Given the description of an element on the screen output the (x, y) to click on. 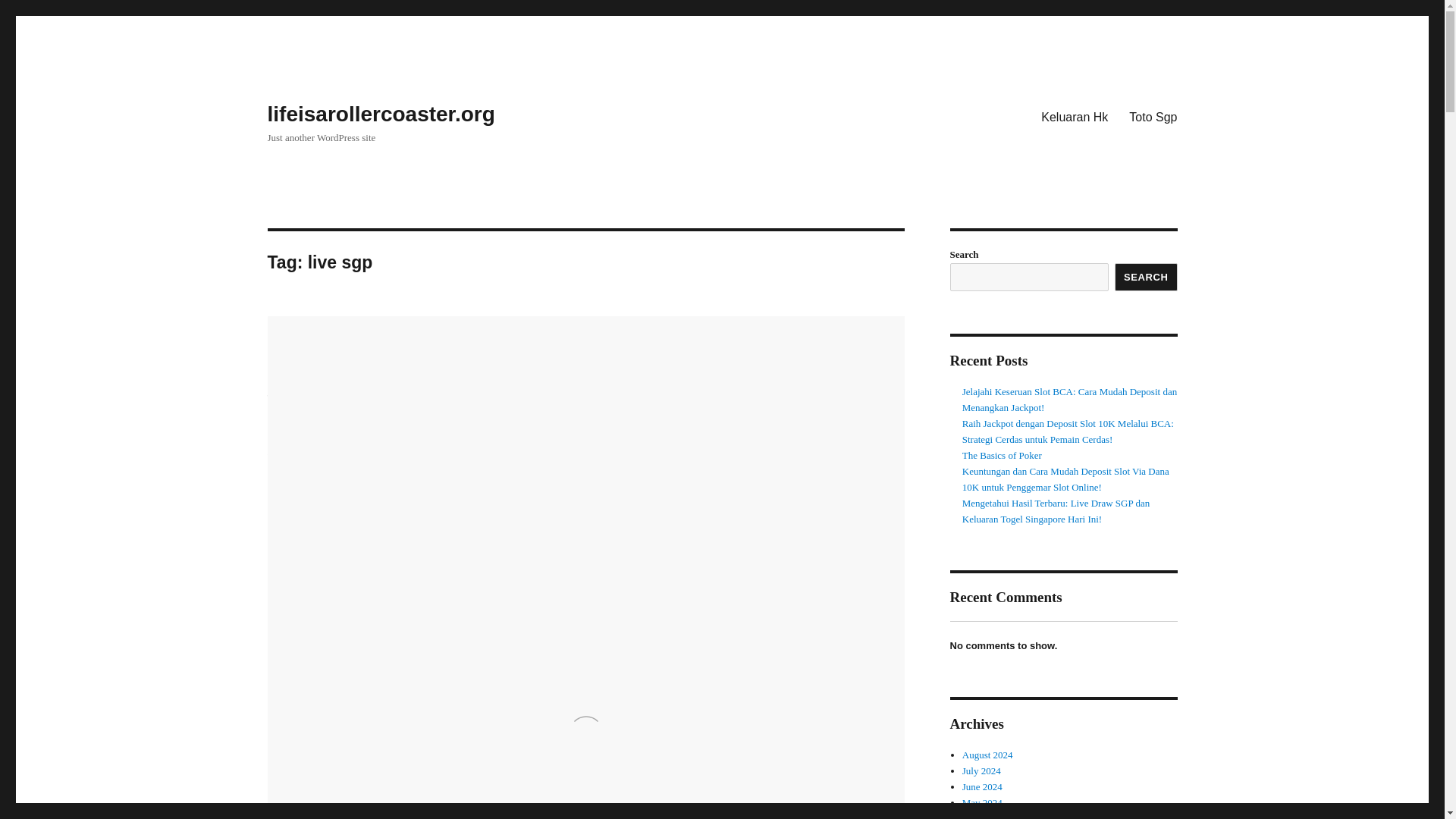
sgp live draw (317, 451)
result sgp (329, 443)
Toto Sgp (1153, 116)
live sgp (347, 436)
January 4, 2023 (301, 393)
live draw sgp (295, 436)
gambling (286, 414)
LIVE DRAW SGP HARI INI TERCEPAT (550, 608)
lifeisarollercoaster.org (380, 114)
How to Play the Lottery Online (486, 334)
